Given the description of an element on the screen output the (x, y) to click on. 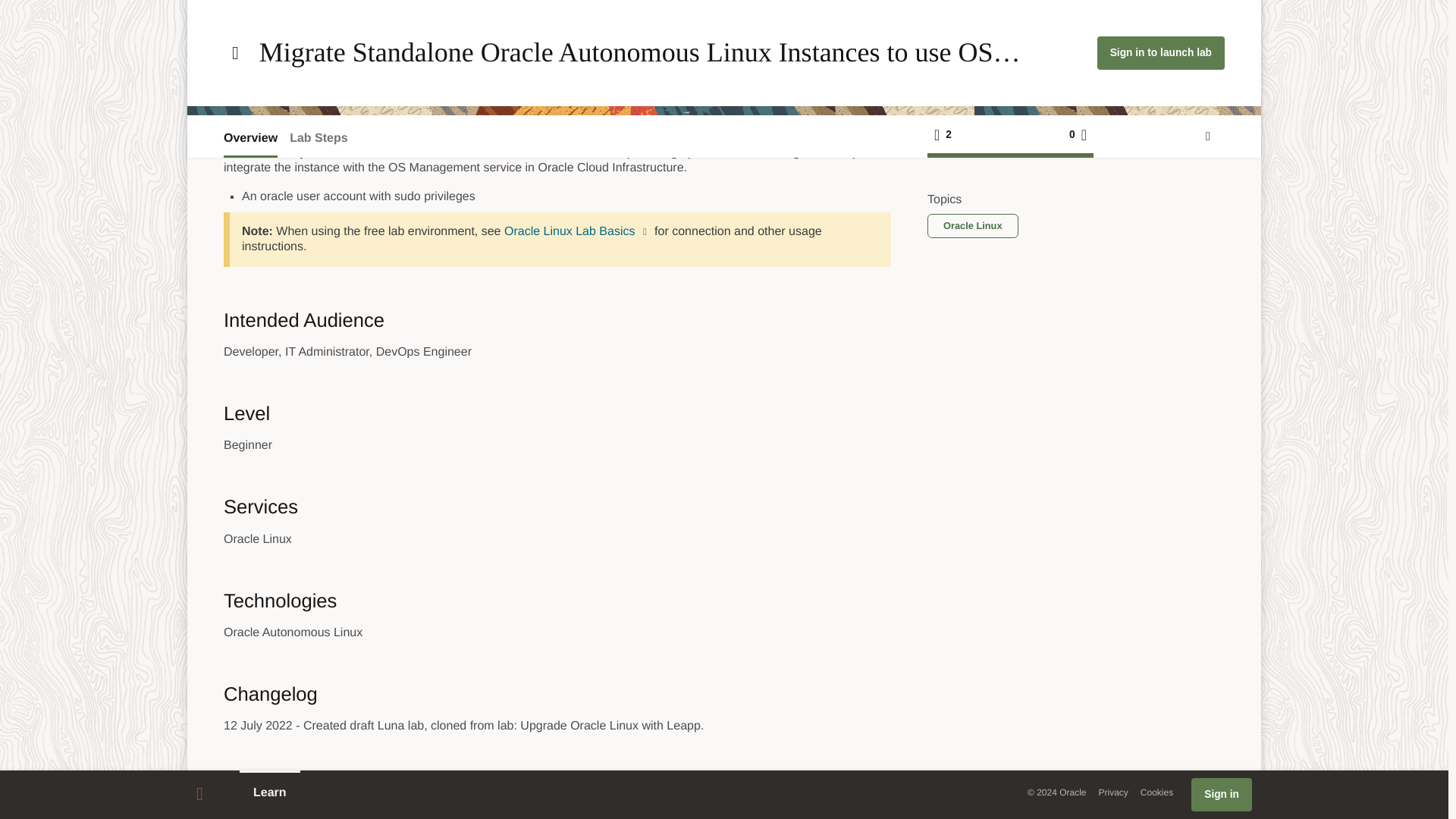
Learn (269, 474)
Oracle Linux Lab Basics (576, 231)
Sign in (1221, 476)
Oracle Linux (948, 113)
Privacy (1113, 473)
Cookies (1156, 473)
